Given the description of an element on the screen output the (x, y) to click on. 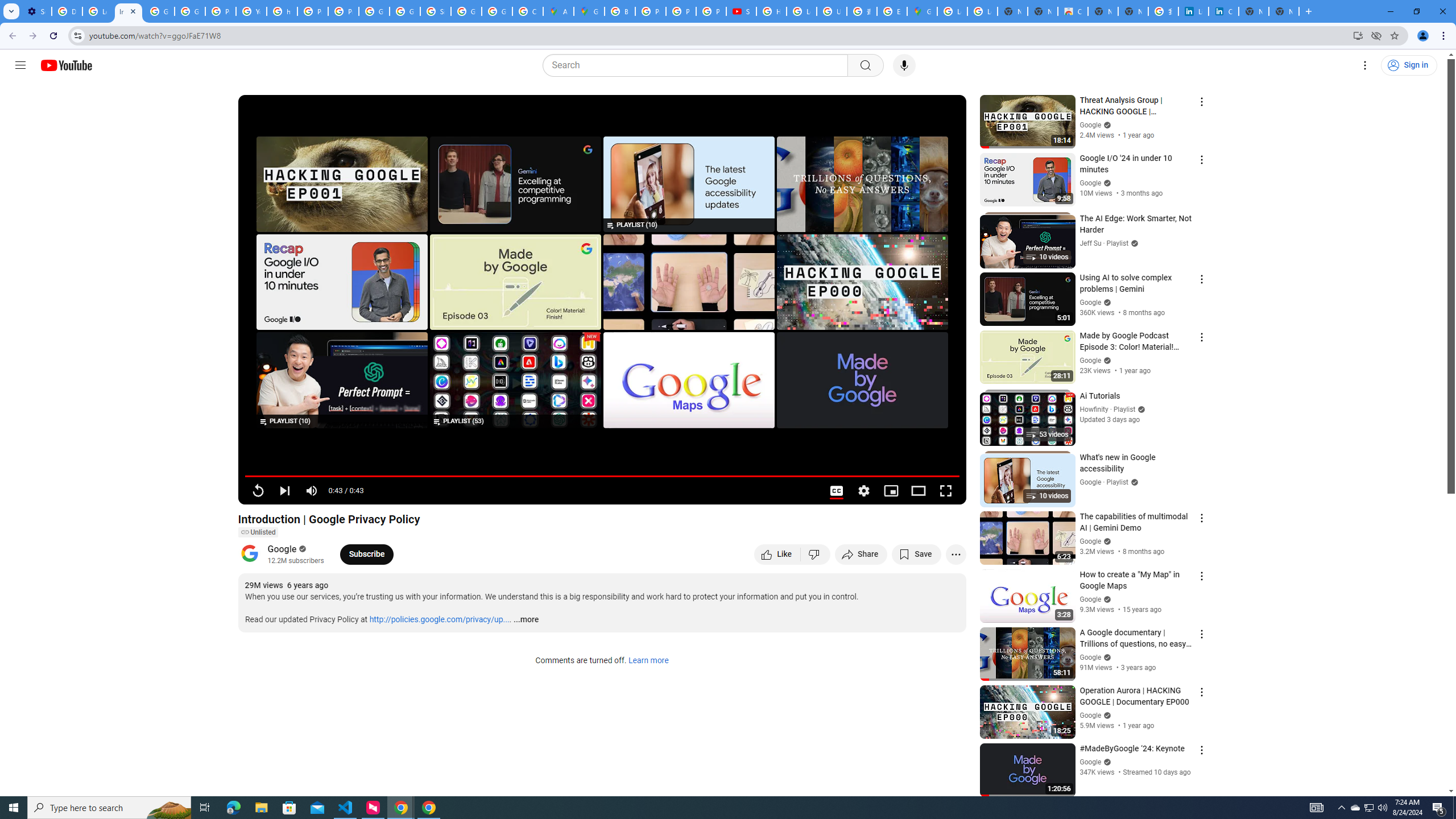
Next (SHIFT+n) (284, 490)
New Tab (1283, 11)
Save to playlist (915, 554)
